Given the description of an element on the screen output the (x, y) to click on. 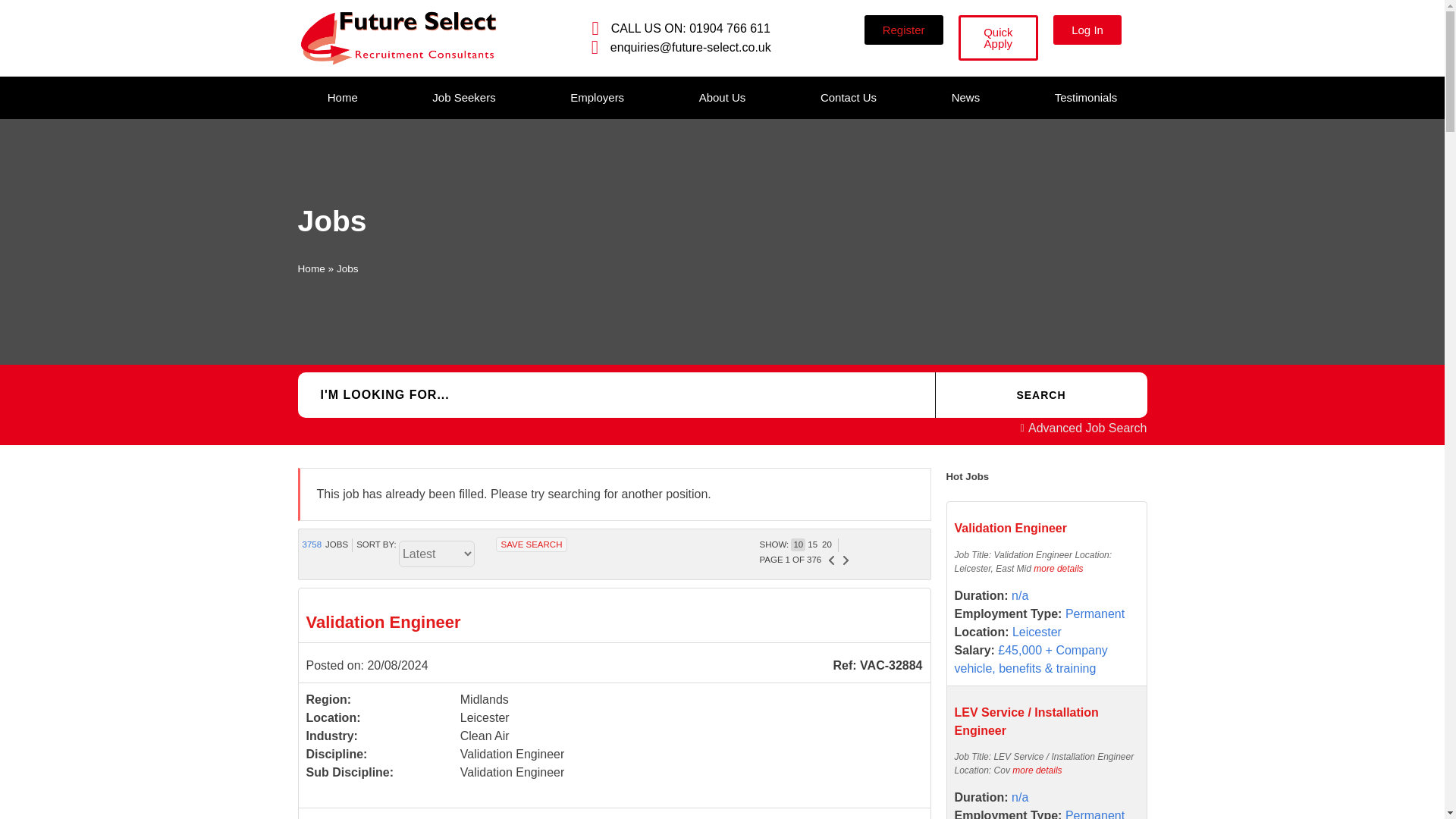
Quick Apply (998, 37)
Contact Us (848, 97)
CALL US ON: 01904 766 611 (676, 27)
Job Seekers (463, 97)
Register (903, 30)
Search (1040, 394)
About Us (722, 97)
News (965, 97)
Testimonials (1085, 97)
Employers (596, 97)
